Given the description of an element on the screen output the (x, y) to click on. 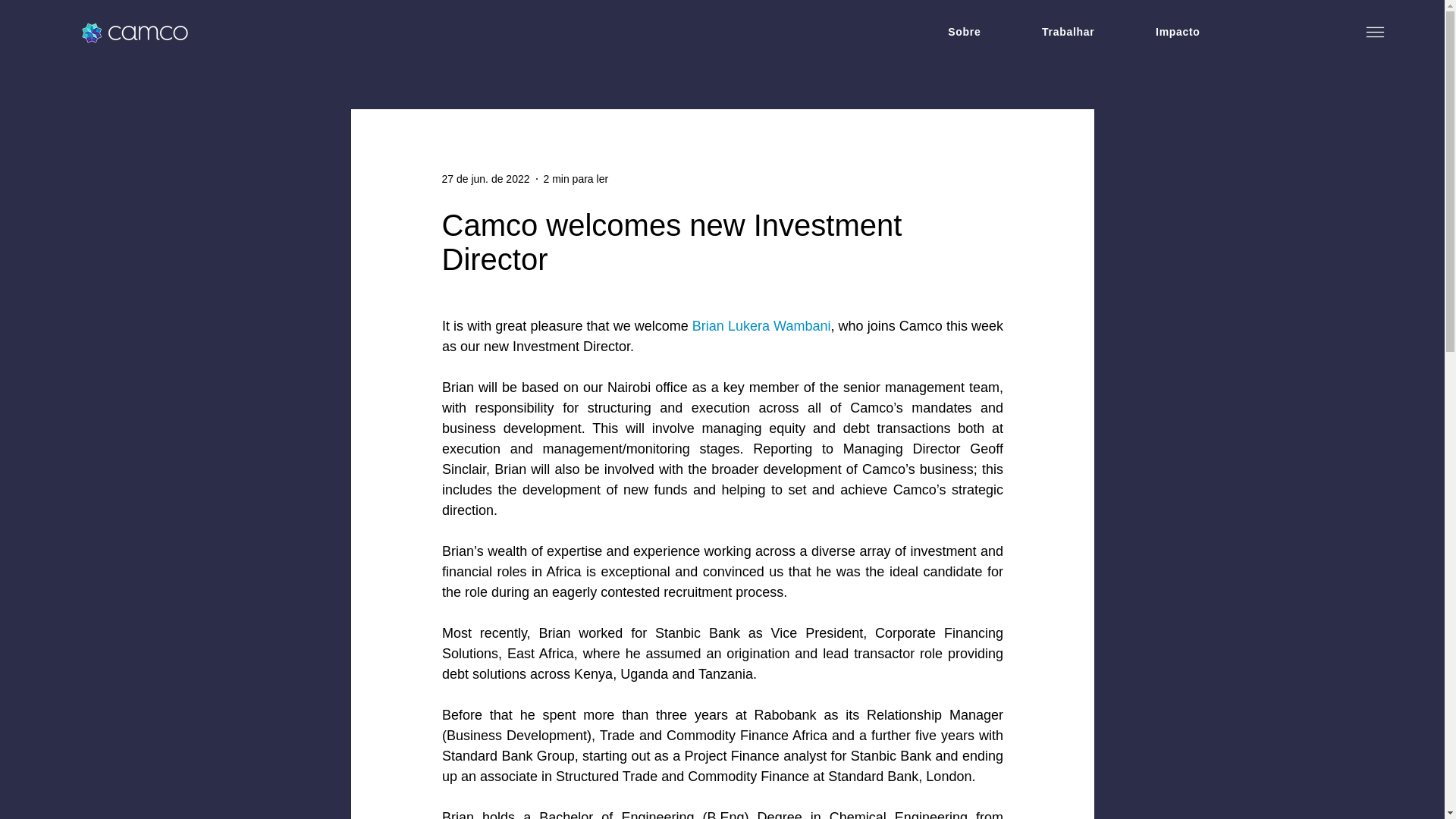
Sobre (964, 31)
Impacto (1177, 31)
Trabalhar (1068, 31)
2 min para ler (575, 178)
Brian Lukera Wambani (760, 325)
27 de jun. de 2022 (485, 178)
